Given the description of an element on the screen output the (x, y) to click on. 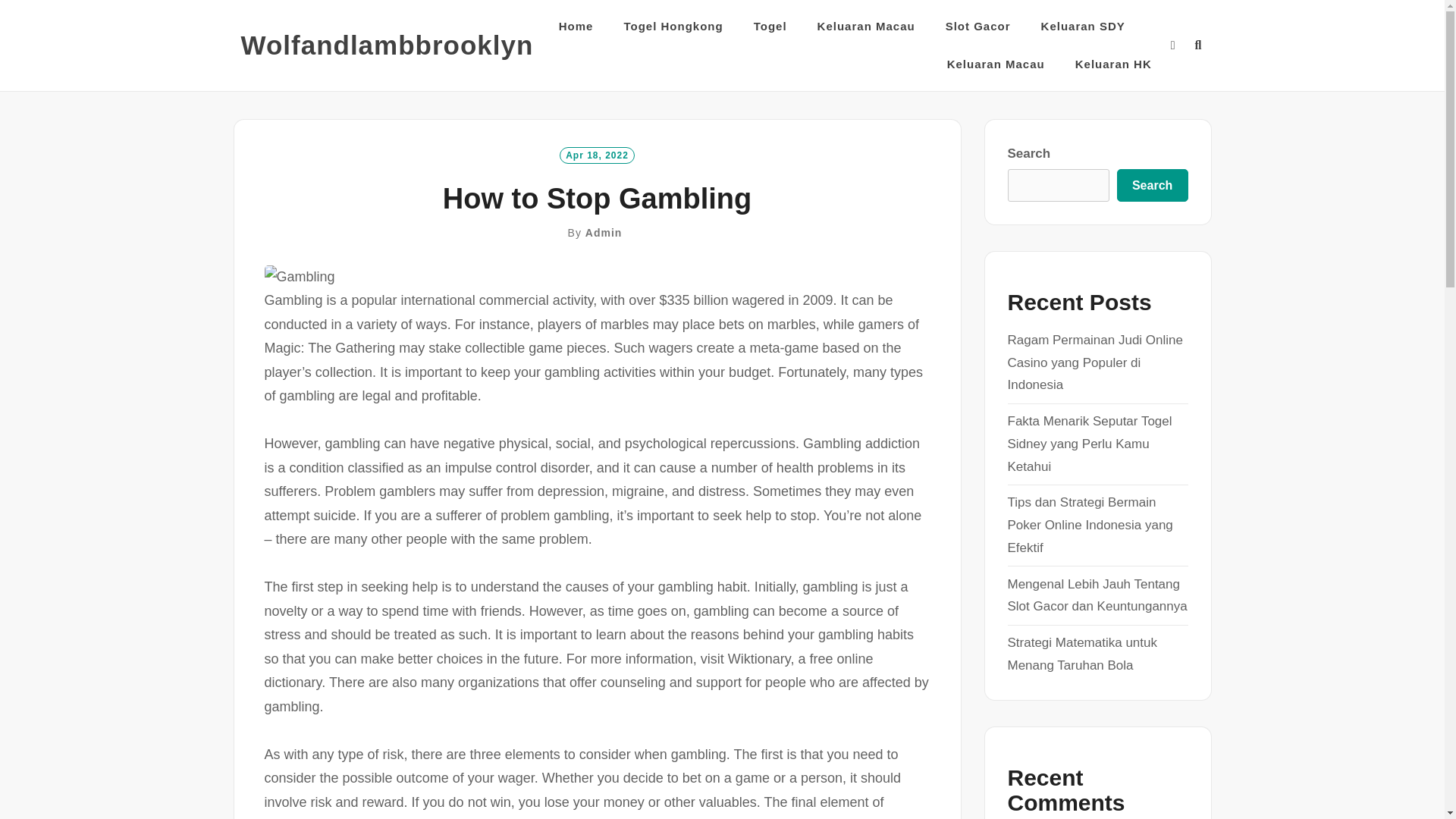
Keluaran Macau (865, 26)
Wolfandlambbrooklyn (387, 45)
Apr 18, 2022 (596, 155)
Togel Hongkong (672, 26)
Keluaran SDY (1083, 26)
Keluaran HK (1113, 64)
Keluaran Macau (996, 64)
Mengenal Lebih Jauh Tentang Slot Gacor dan Keuntungannya (1096, 595)
Home (576, 26)
